Given the description of an element on the screen output the (x, y) to click on. 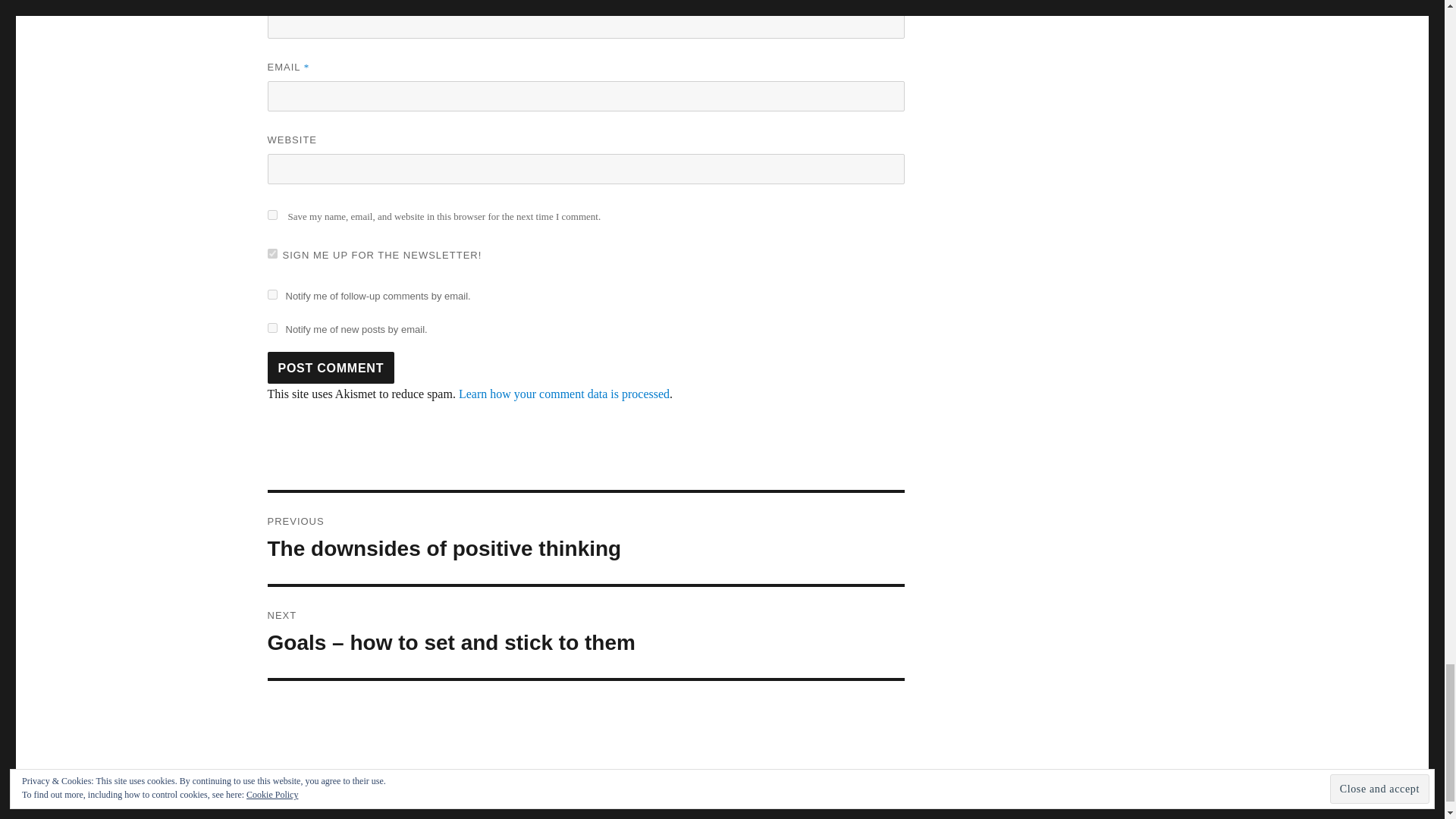
Post Comment (330, 368)
yes (271, 214)
1 (585, 538)
subscribe (271, 253)
Post Comment (271, 294)
subscribe (330, 368)
Learn how your comment data is processed (271, 327)
